Given the description of an element on the screen output the (x, y) to click on. 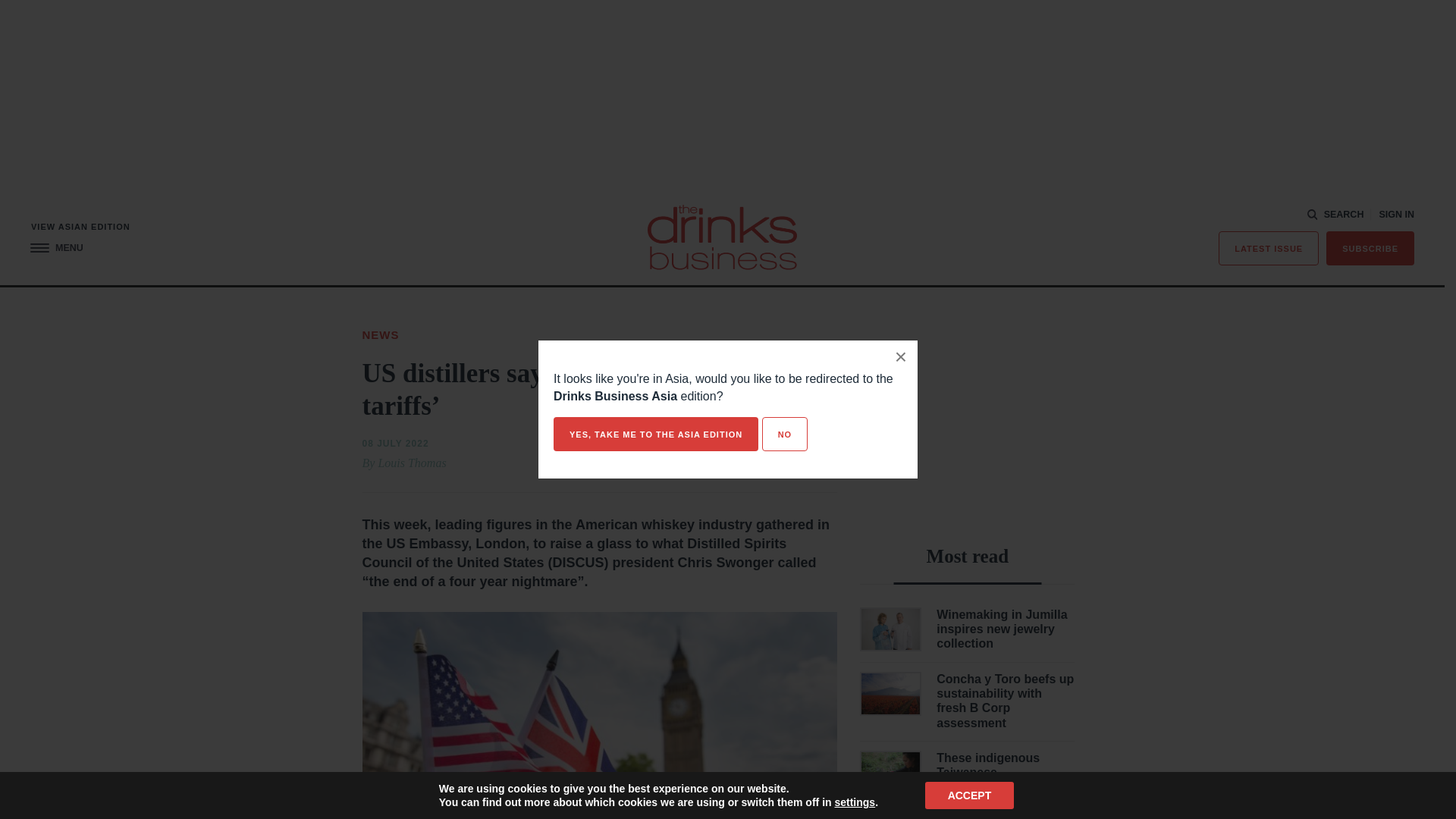
VIEW ASIAN EDITION (80, 226)
SIGN IN (1395, 214)
SEARCH (1335, 214)
The Drinks Business (721, 237)
LATEST ISSUE (1268, 247)
MENU (56, 248)
SUBSCRIBE (1369, 247)
NO (784, 433)
3rd party ad content (967, 420)
